Given the description of an element on the screen output the (x, y) to click on. 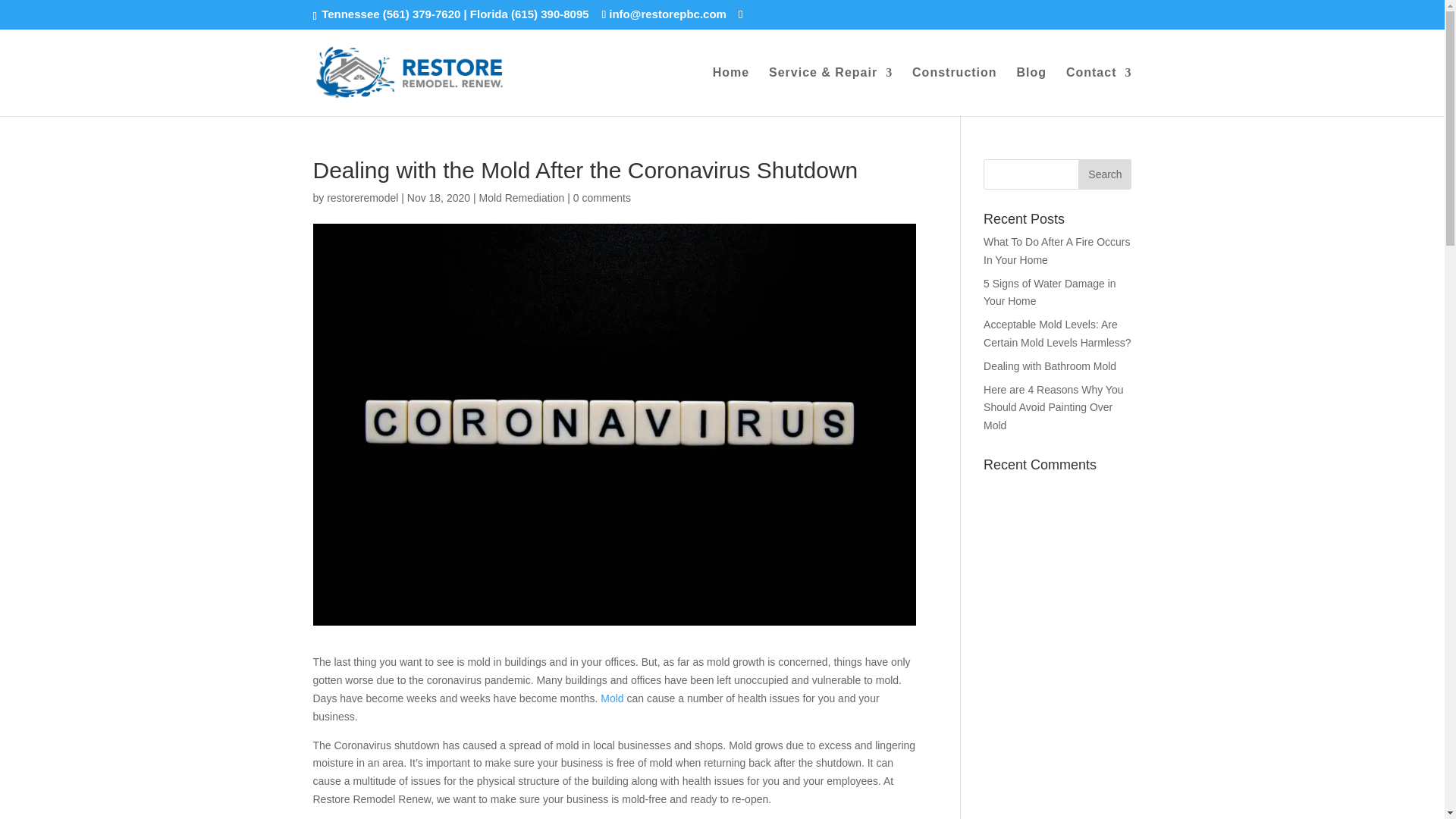
Home (731, 90)
Construction (954, 90)
Search (1104, 173)
Posts by restoreremodel (361, 197)
Blog (1031, 90)
Contact (1098, 90)
